Given the description of an element on the screen output the (x, y) to click on. 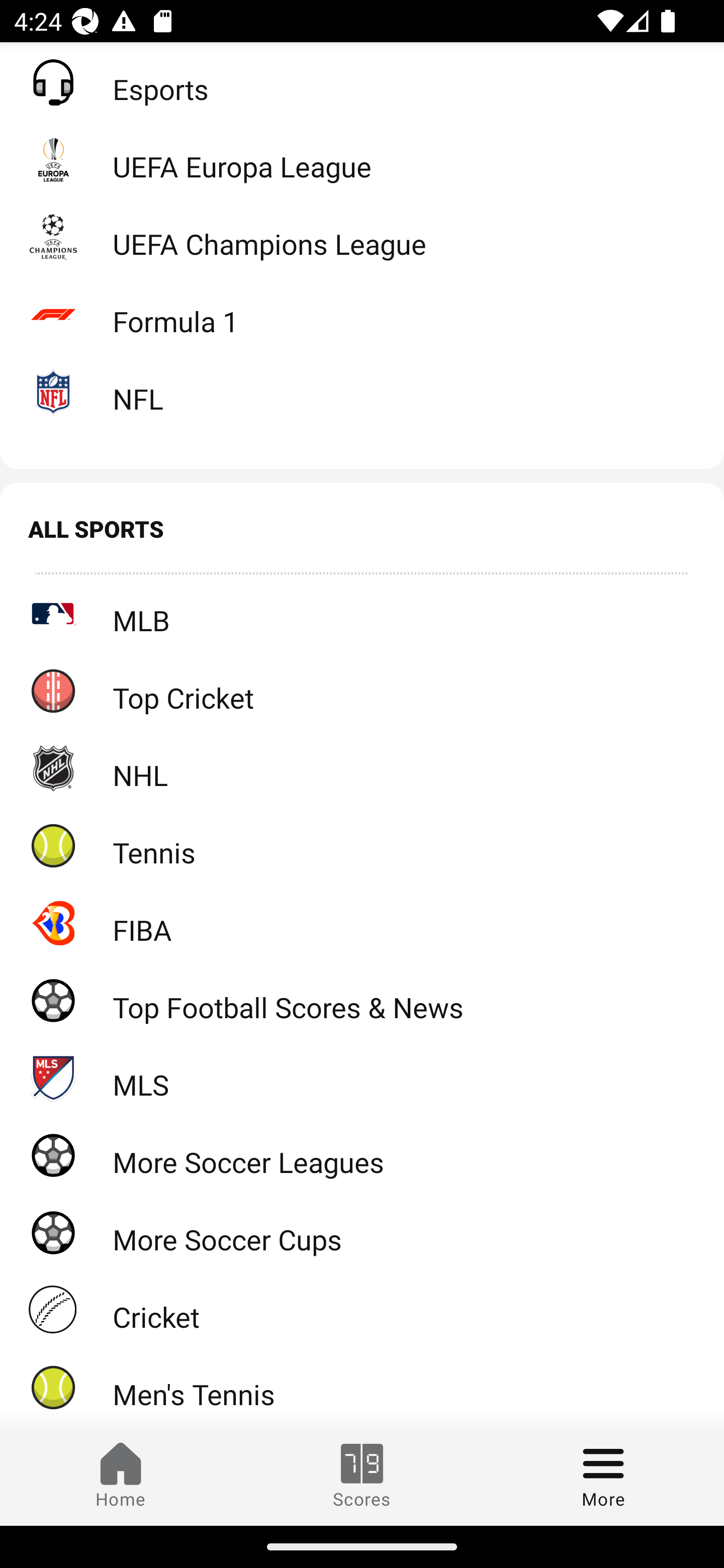
Esports (362, 81)
UEFA Europa League (362, 158)
UEFA Champions League (362, 236)
Formula 1 (362, 313)
NFL (362, 390)
MLB (362, 612)
Top Cricket (362, 690)
NHL (362, 767)
Tennis (362, 844)
FIBA  (362, 922)
Top Football Scores & News (362, 999)
MLS (362, 1077)
More Soccer Leagues (362, 1154)
More Soccer Cups (362, 1232)
Cricket G Cricket (362, 1309)
Men's Tennis (362, 1386)
Home (120, 1475)
Scores (361, 1475)
